Given the description of an element on the screen output the (x, y) to click on. 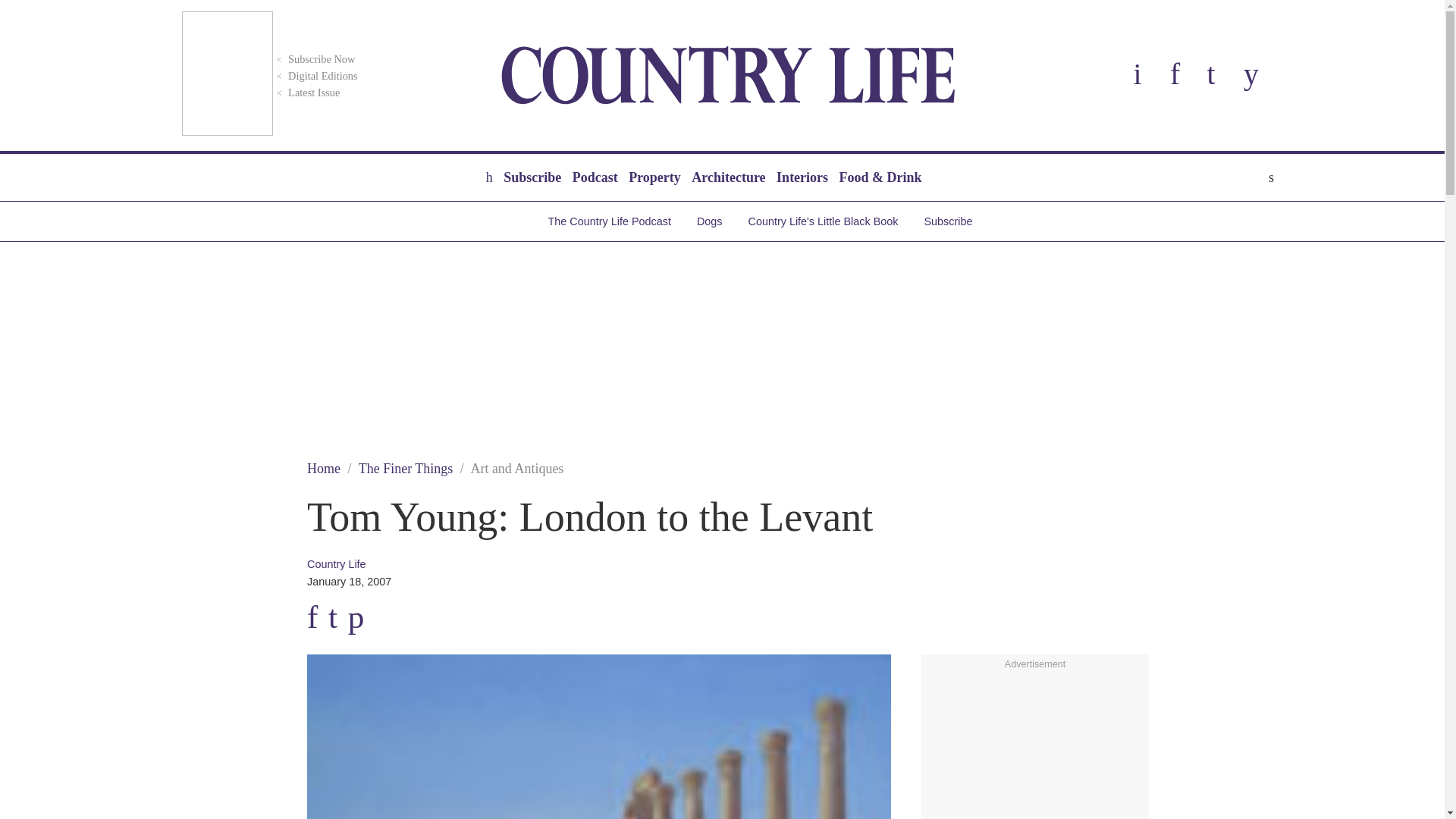
Property (654, 176)
Subscribe (531, 176)
Architecture (727, 176)
Interiors (802, 176)
Digital Editions (315, 75)
Subscribe Now (314, 59)
Country Life (727, 74)
Latest Issue (306, 92)
Podcast (595, 176)
